Given the description of an element on the screen output the (x, y) to click on. 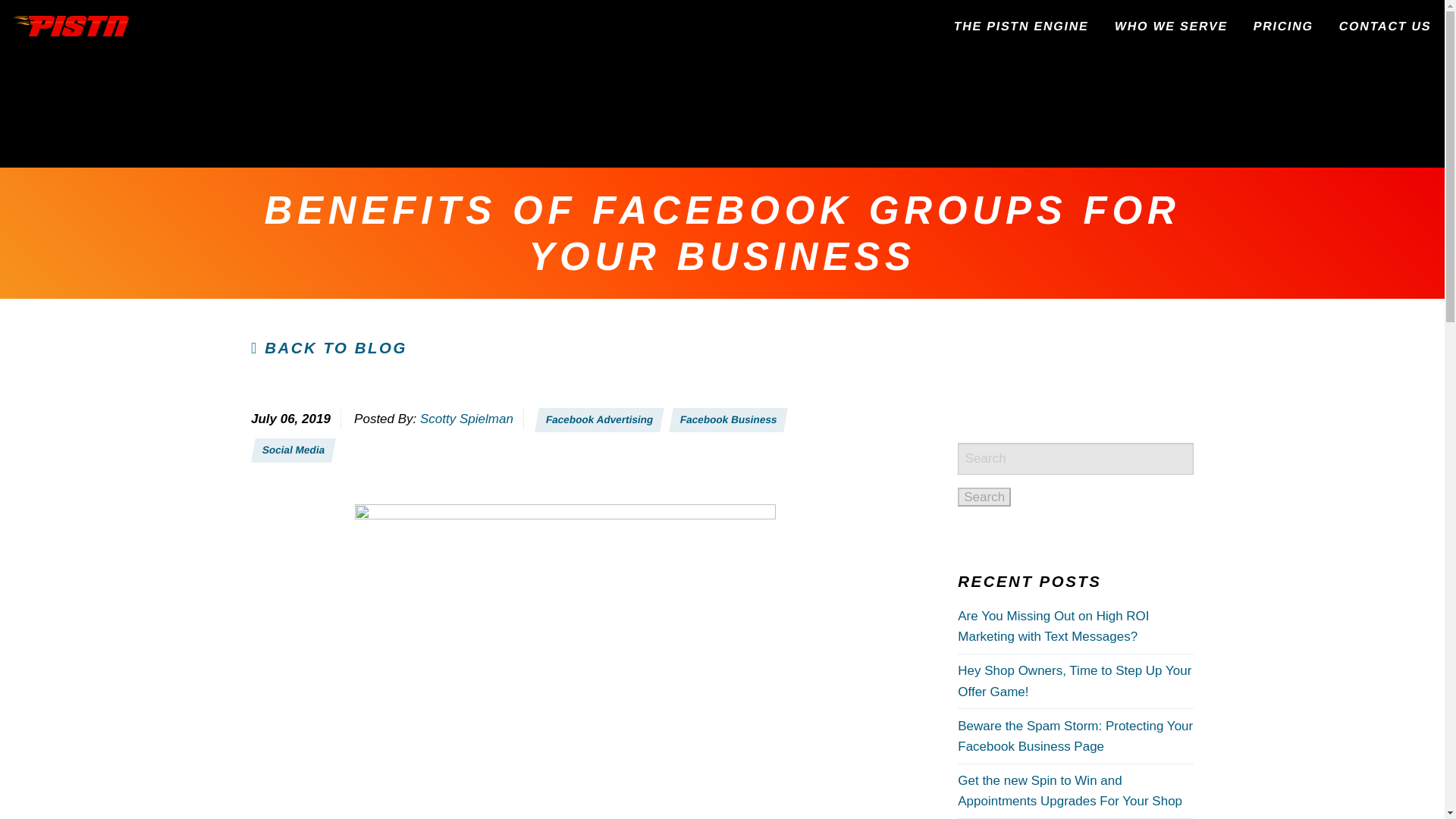
Social Media (291, 450)
Search (984, 496)
PISTn (71, 25)
Facebook Business (725, 419)
THE PISTN ENGINE (1016, 25)
Search (984, 496)
BACK TO BLOG (328, 347)
Facebook Advertising (596, 419)
your business (544, 817)
PRICING (1279, 25)
Scotty Spielman (466, 418)
CONTACT US (1380, 25)
